Given the description of an element on the screen output the (x, y) to click on. 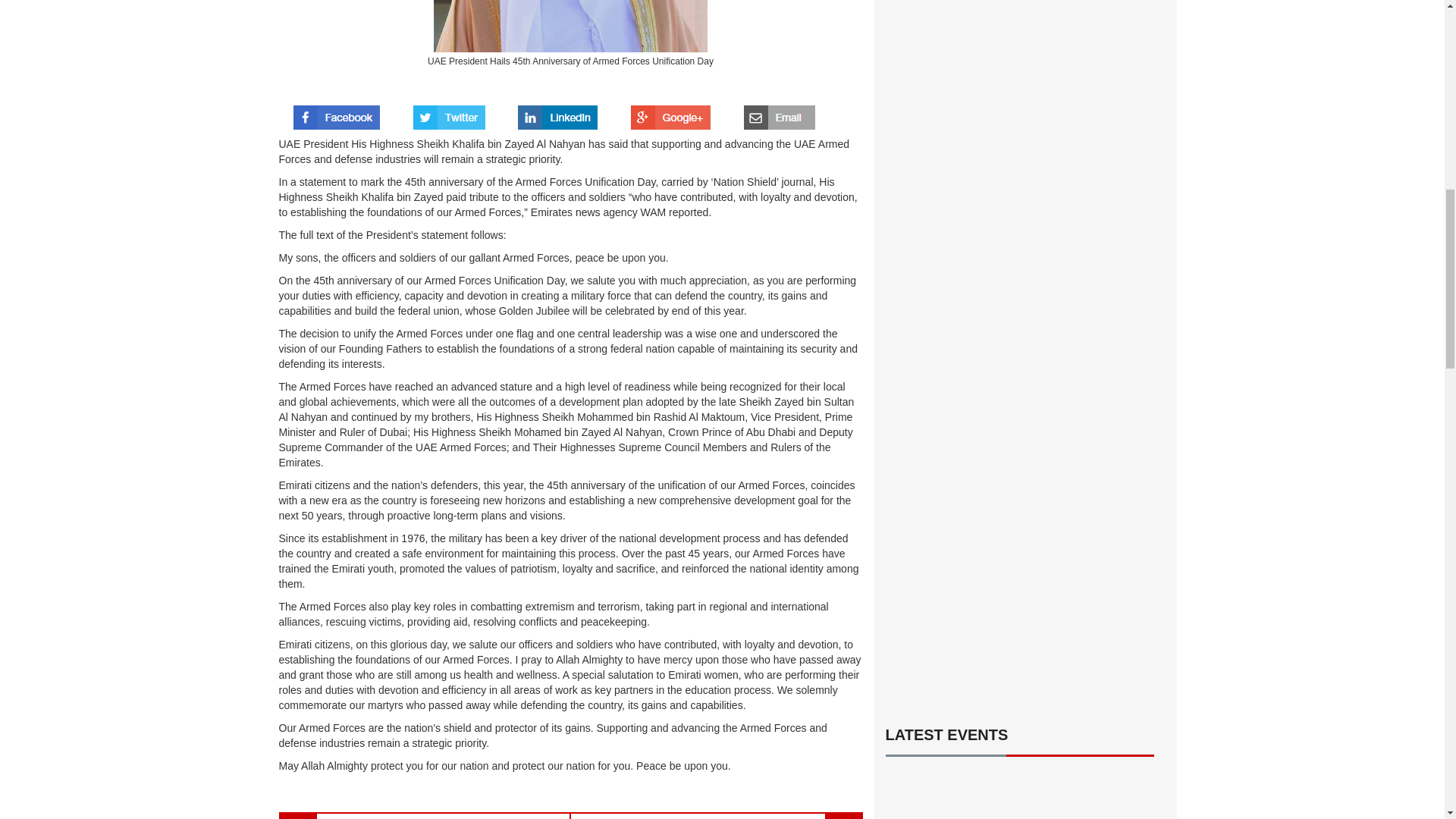
Share on LinkedIn (557, 112)
Visit defaiya on Facebook (337, 112)
Tweet this (448, 112)
